Given the description of an element on the screen output the (x, y) to click on. 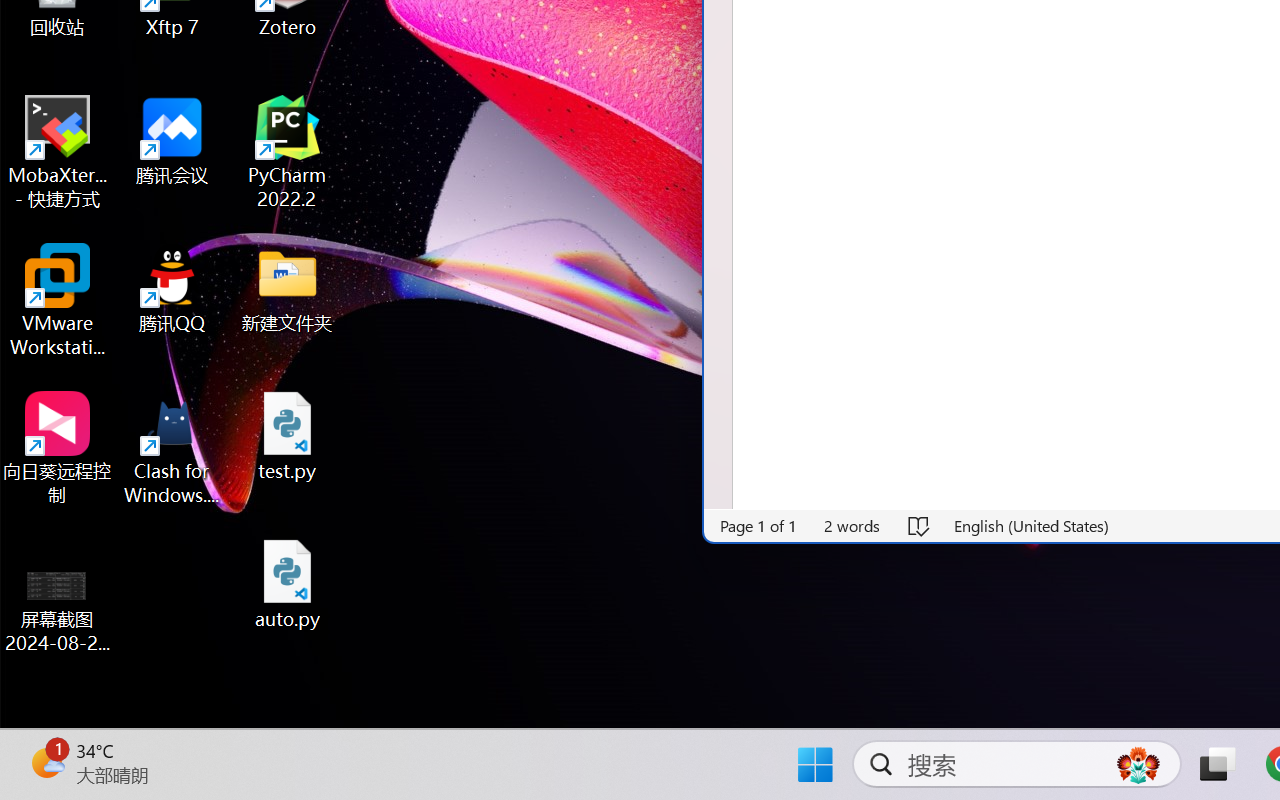
auto.py (287, 584)
Column left (716, 495)
PyCharm 2022.2 (287, 152)
VMware Workstation Pro (57, 300)
test.py (287, 436)
